Given the description of an element on the screen output the (x, y) to click on. 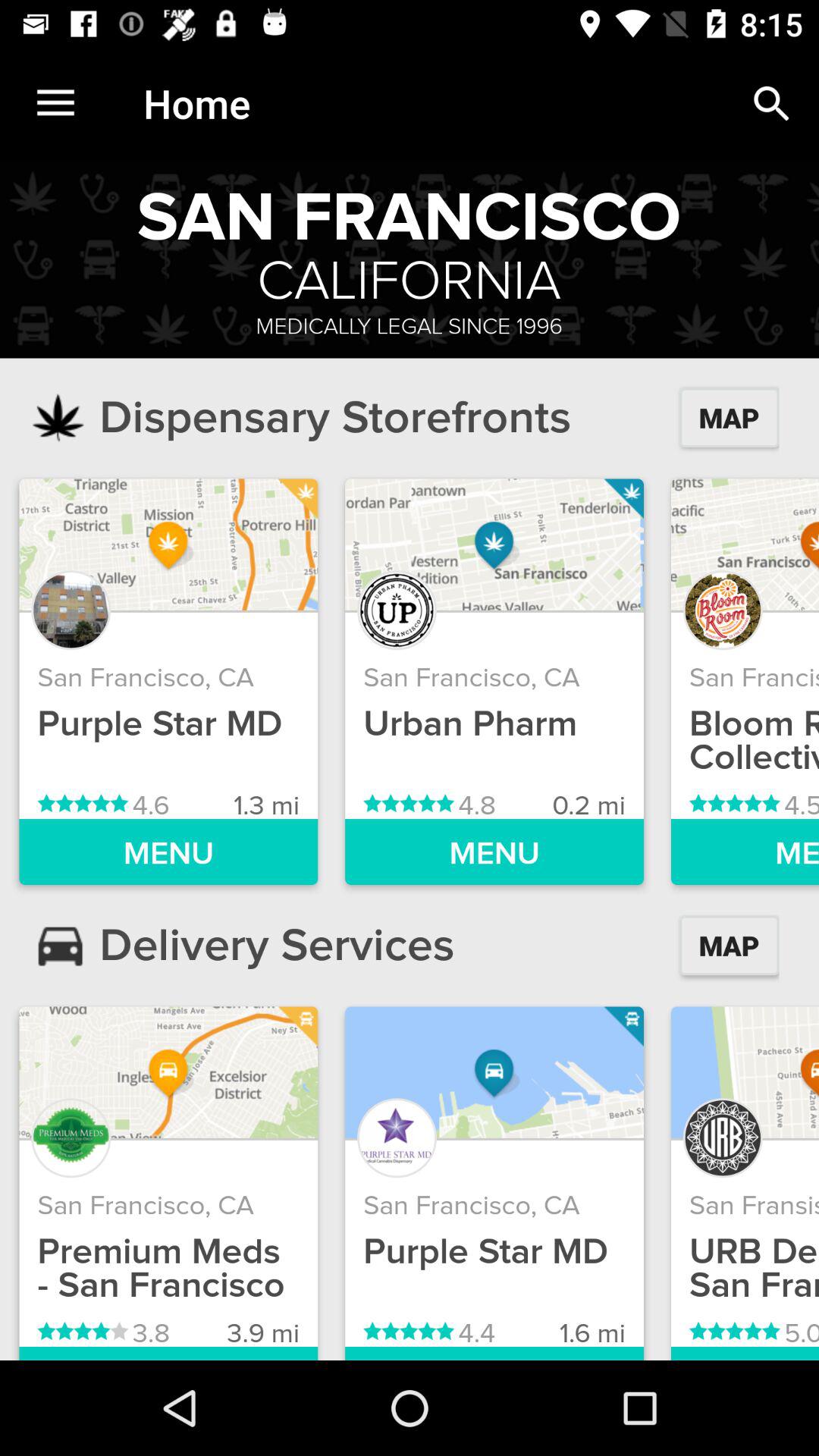
launch the icon next to the home item (55, 103)
